Given the description of an element on the screen output the (x, y) to click on. 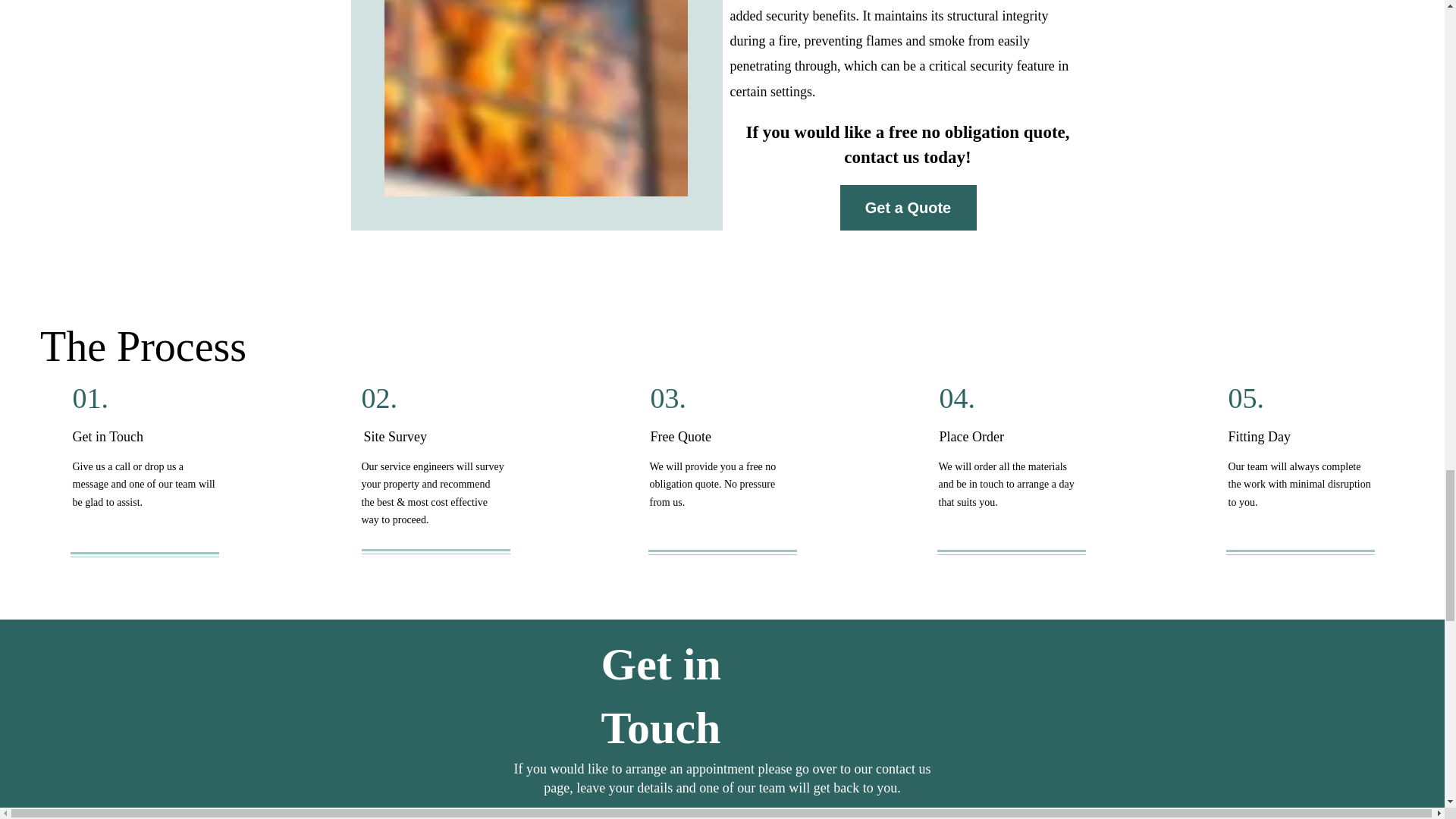
Contact Us (723, 814)
Get a Quote (908, 207)
